Given the description of an element on the screen output the (x, y) to click on. 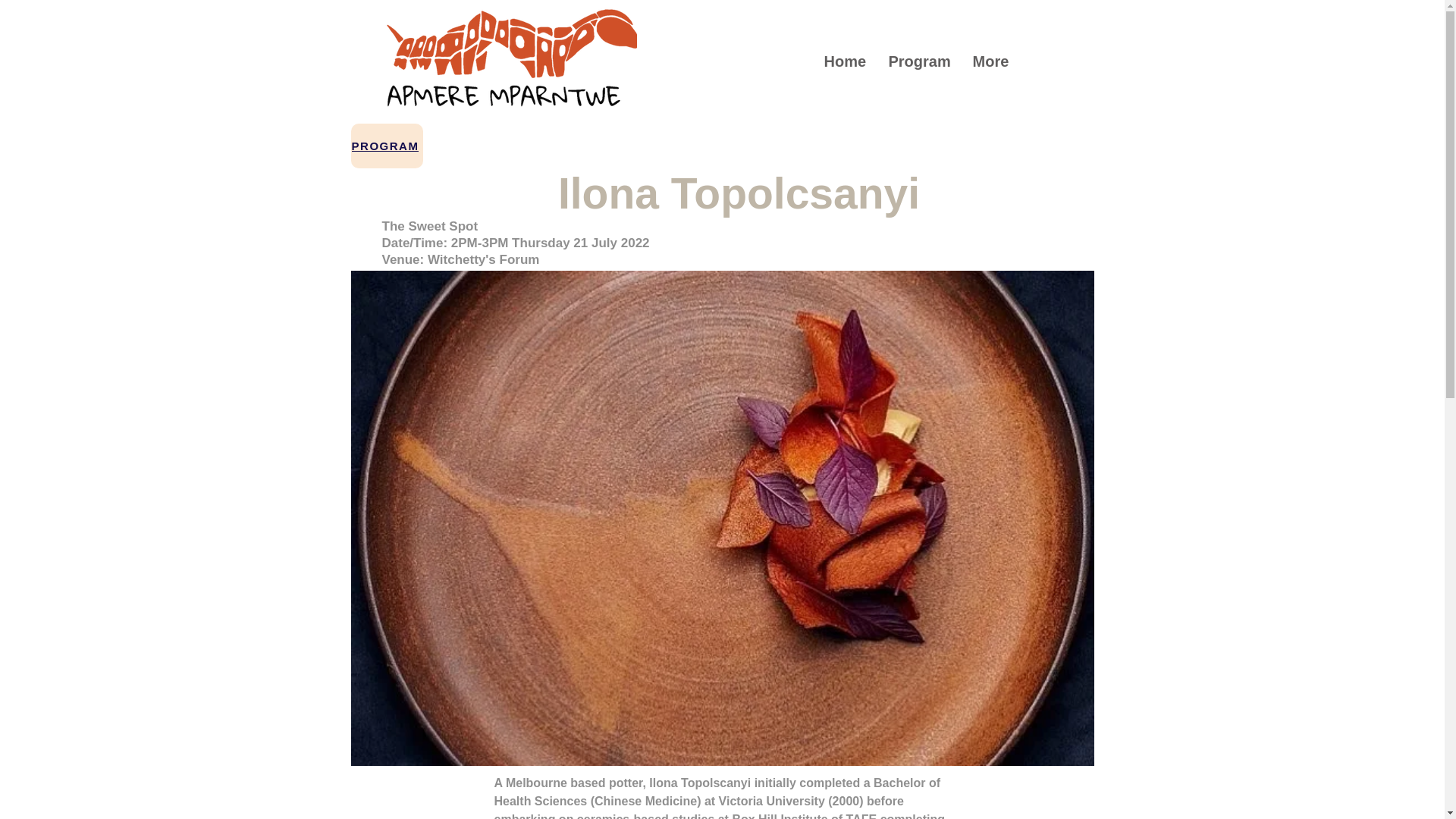
Home (844, 61)
PROGRAM (386, 145)
Program (918, 61)
